Given the description of an element on the screen output the (x, y) to click on. 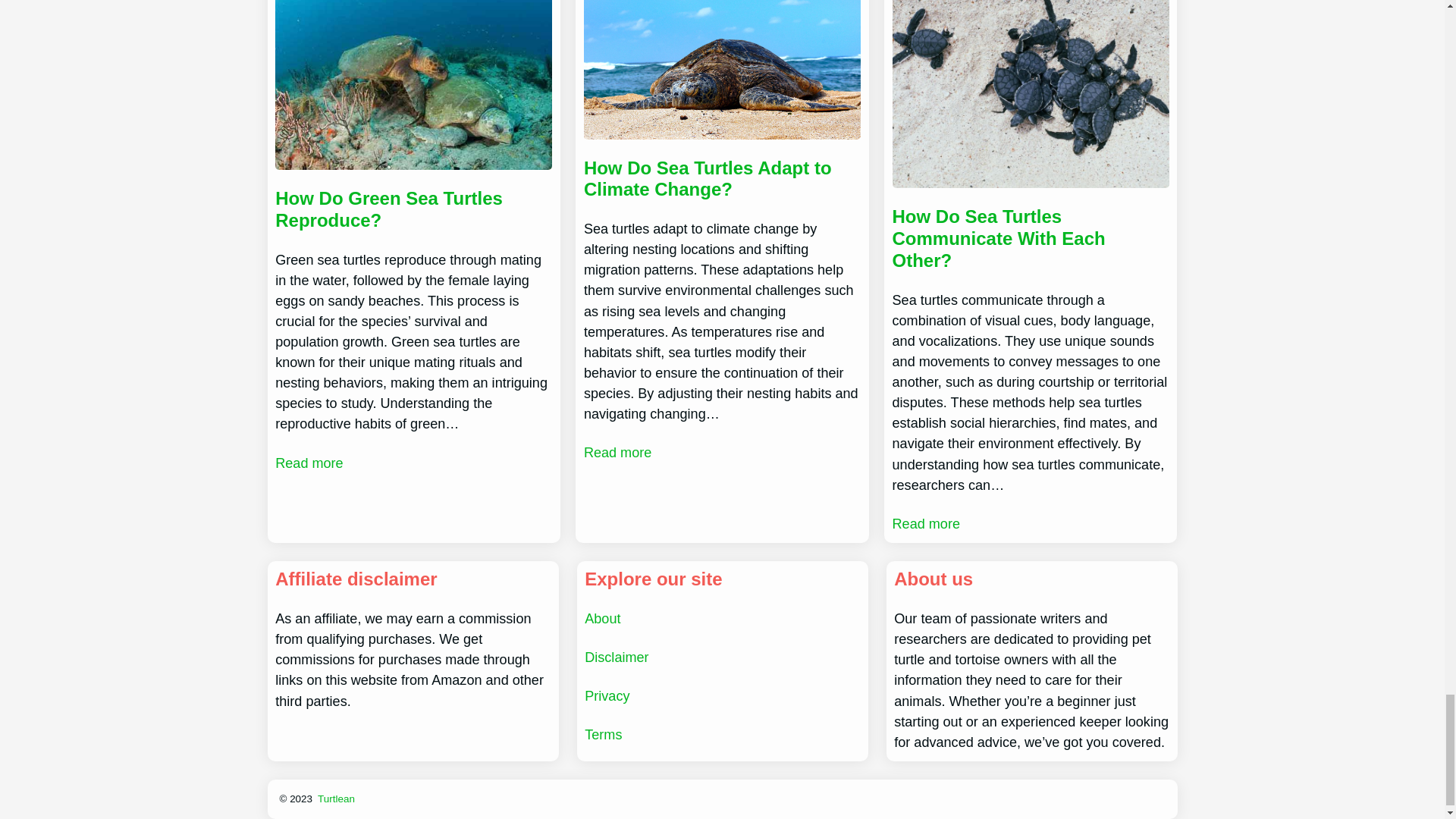
Read more (616, 453)
How Do Sea Turtles Adapt to Climate Change? (721, 178)
How Do Green Sea Turtles Reproduce? (413, 209)
Read more (308, 462)
